Given the description of an element on the screen output the (x, y) to click on. 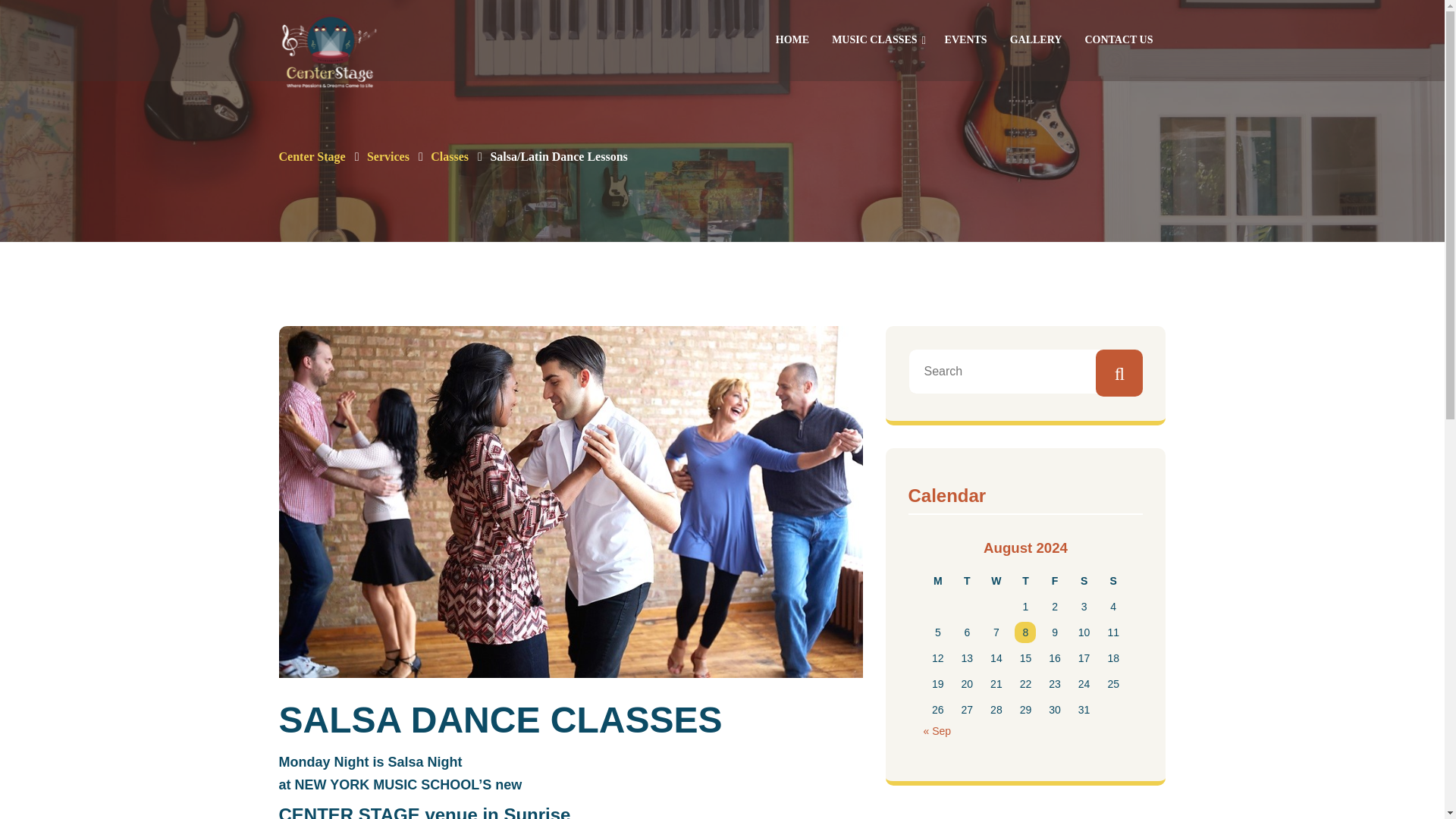
Friday (1055, 580)
EVENTS (965, 32)
Go to the Classes Category archives. (449, 155)
Center Stage (312, 155)
Classes (449, 155)
Sunday (1113, 580)
MUSIC CLASSES (874, 32)
Saturday (1083, 580)
Monday (938, 580)
Go to Center Stage. (312, 155)
